Given the description of an element on the screen output the (x, y) to click on. 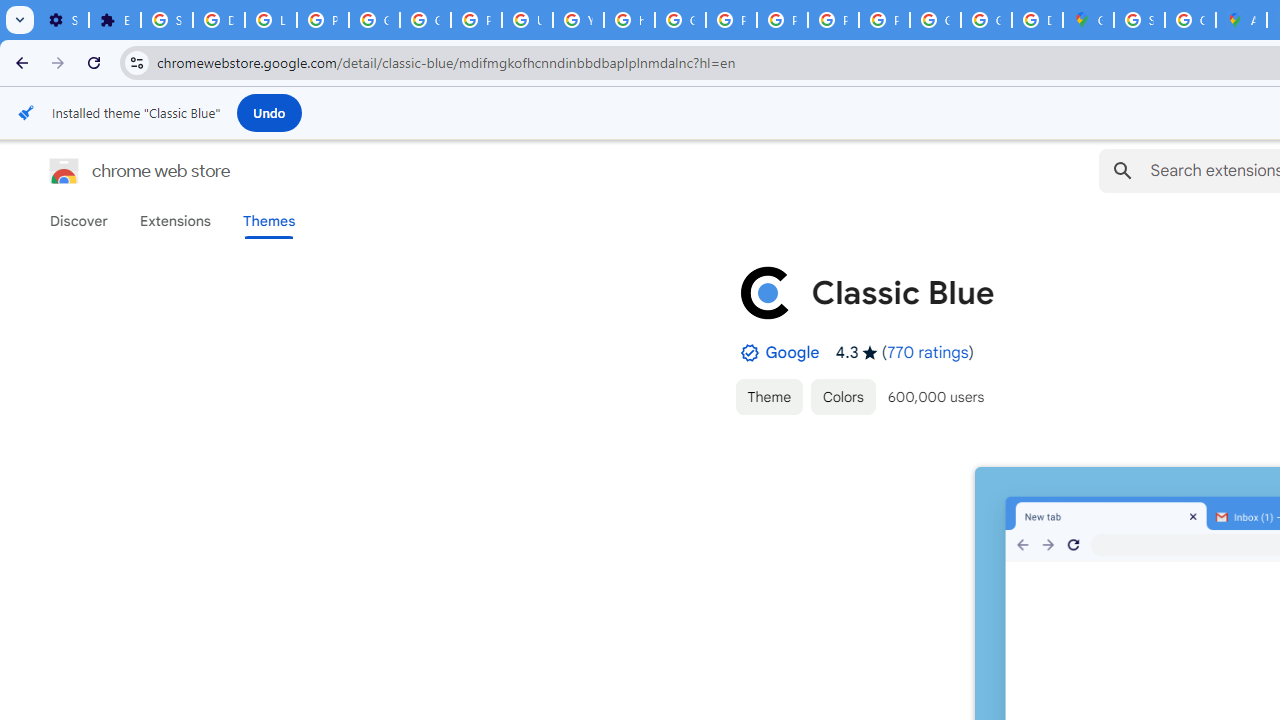
Create your Google Account (1189, 20)
Discover (79, 221)
YouTube (578, 20)
Colors (843, 396)
770 ratings (927, 352)
Chrome Web Store logo (63, 170)
By Established Publisher Badge (749, 353)
Delete photos & videos - Computer - Google Photos Help (218, 20)
Chrome Web Store logo chrome web store (118, 170)
